Given the description of an element on the screen output the (x, y) to click on. 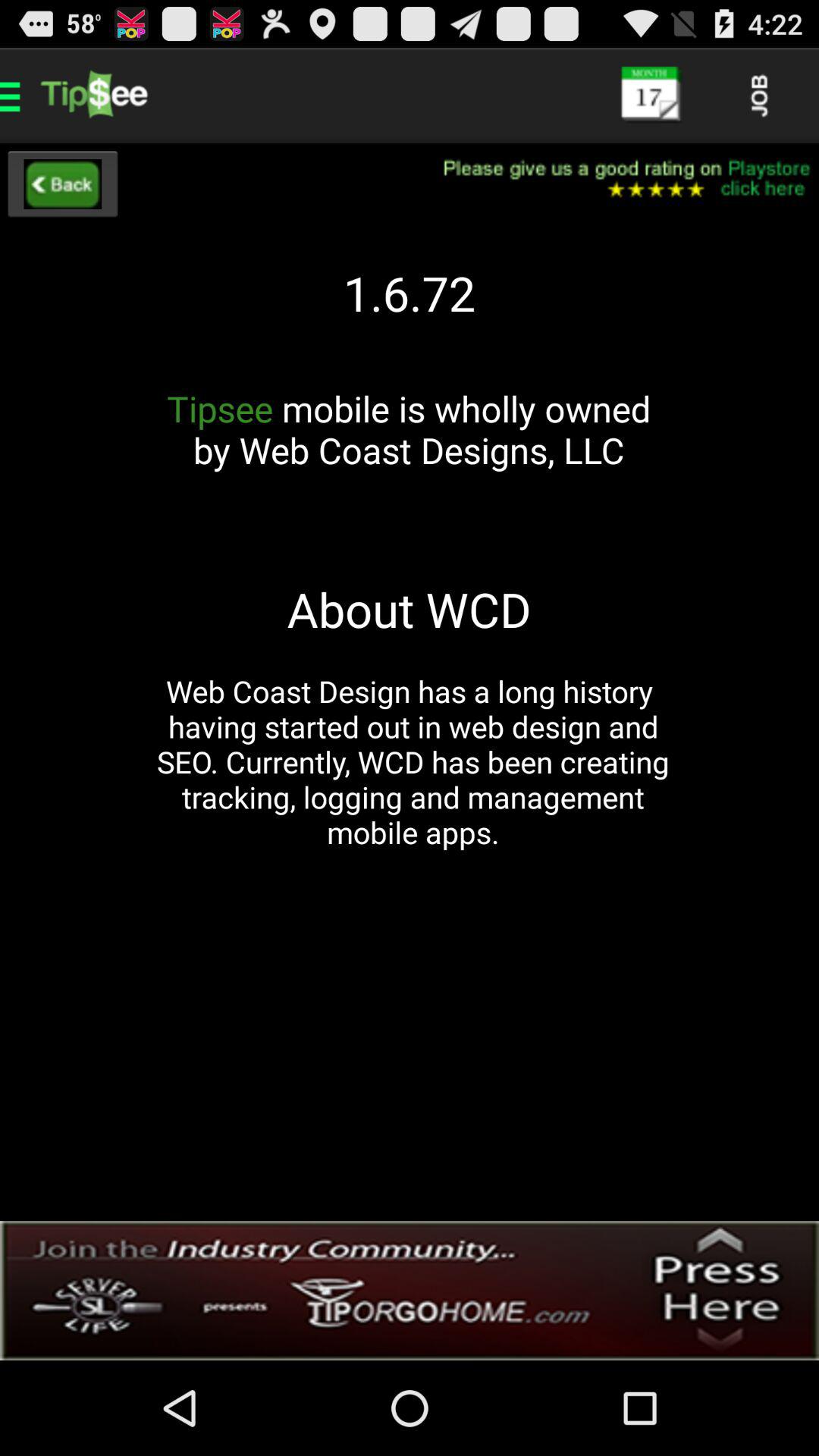
select app below the 1.6.72 icon (409, 450)
